Given the description of an element on the screen output the (x, y) to click on. 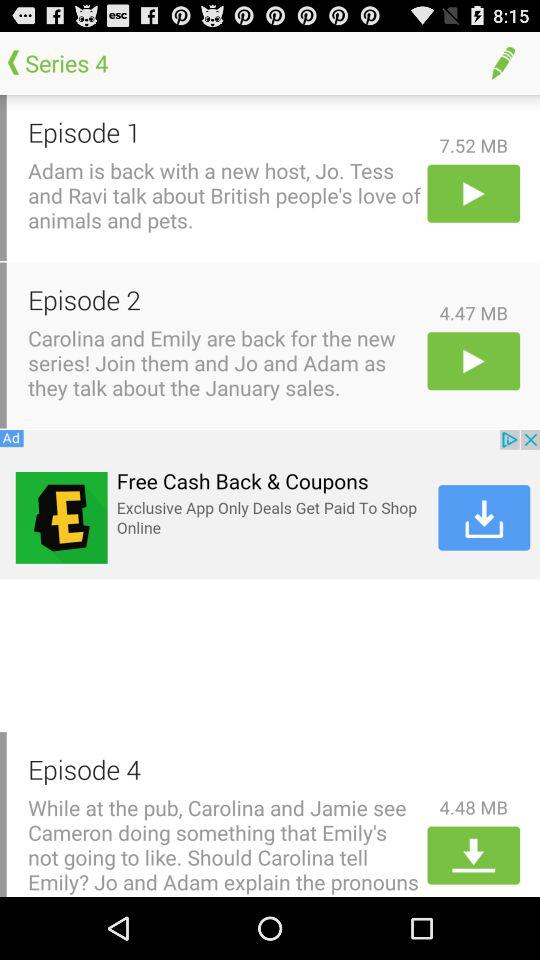
download file (473, 855)
